Given the description of an element on the screen output the (x, y) to click on. 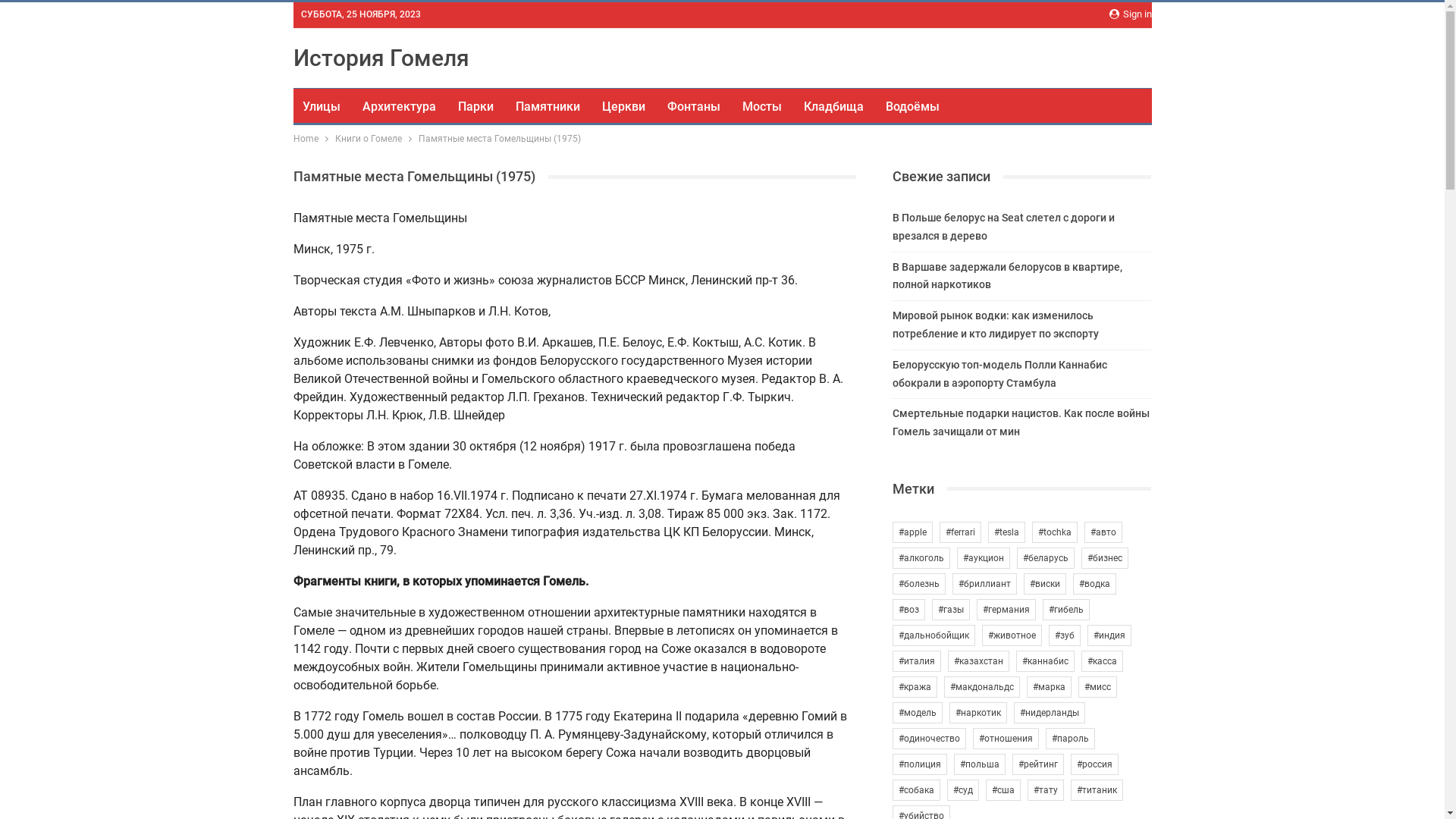
Home Element type: text (304, 138)
#apple Element type: text (912, 531)
Sign in Element type: text (1129, 14)
#tesla Element type: text (1006, 531)
#tochka Element type: text (1054, 531)
#ferrari Element type: text (960, 531)
